Given the description of an element on the screen output the (x, y) to click on. 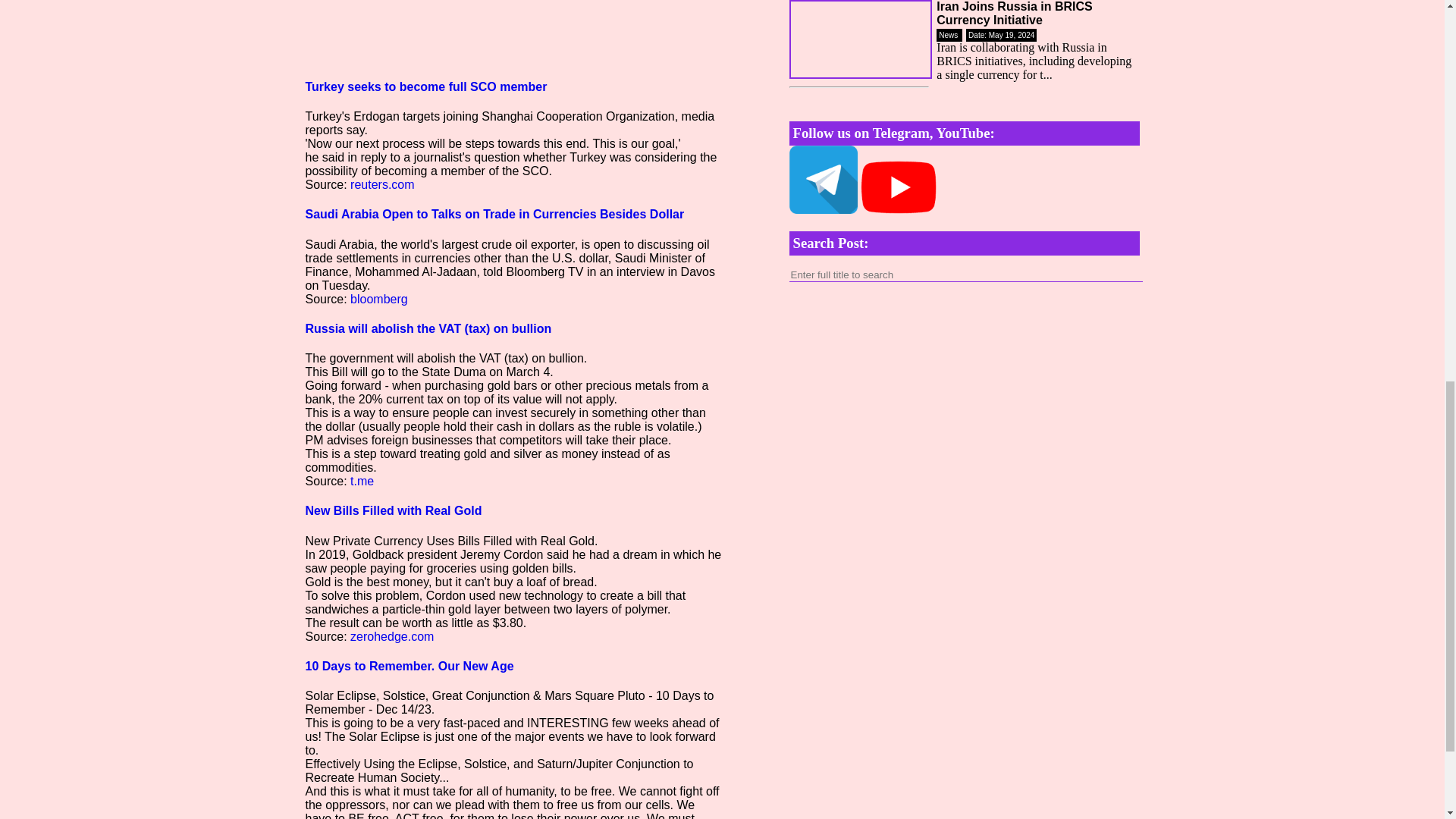
t.me (362, 481)
zerohedge.com (391, 635)
Turkey seeks to become full SCO member (425, 86)
reuters.com (381, 184)
bloomberg (378, 298)
New Bills Filled with Real Gold (392, 510)
10 Days to Remember. Our New Age (408, 666)
